Given the description of an element on the screen output the (x, y) to click on. 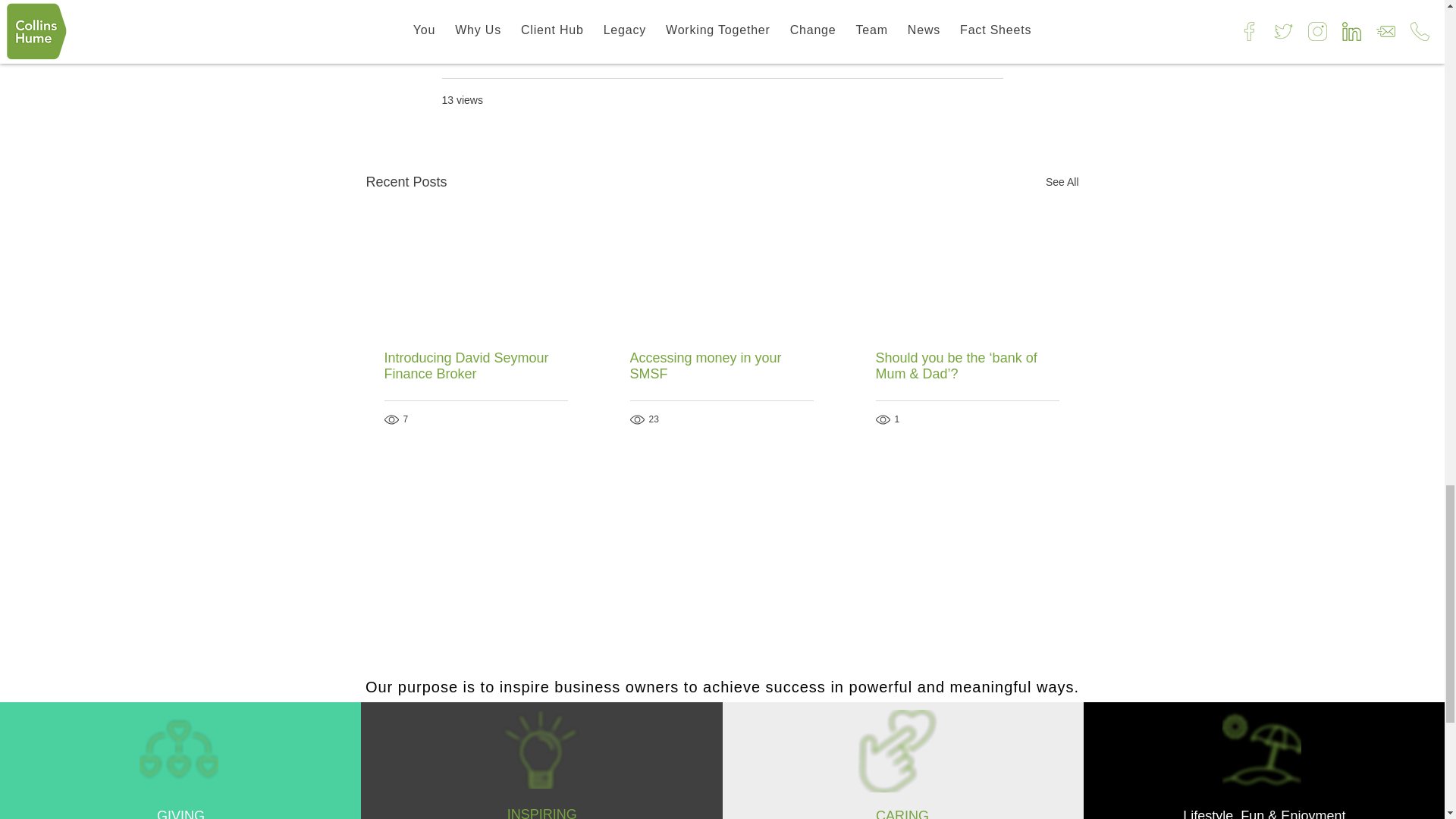
retirement (548, 2)
cybersecurity (913, 2)
superannuation (478, 2)
technology (605, 2)
self managed superannuation SMSF (727, 2)
investment (848, 2)
